Given the description of an element on the screen output the (x, y) to click on. 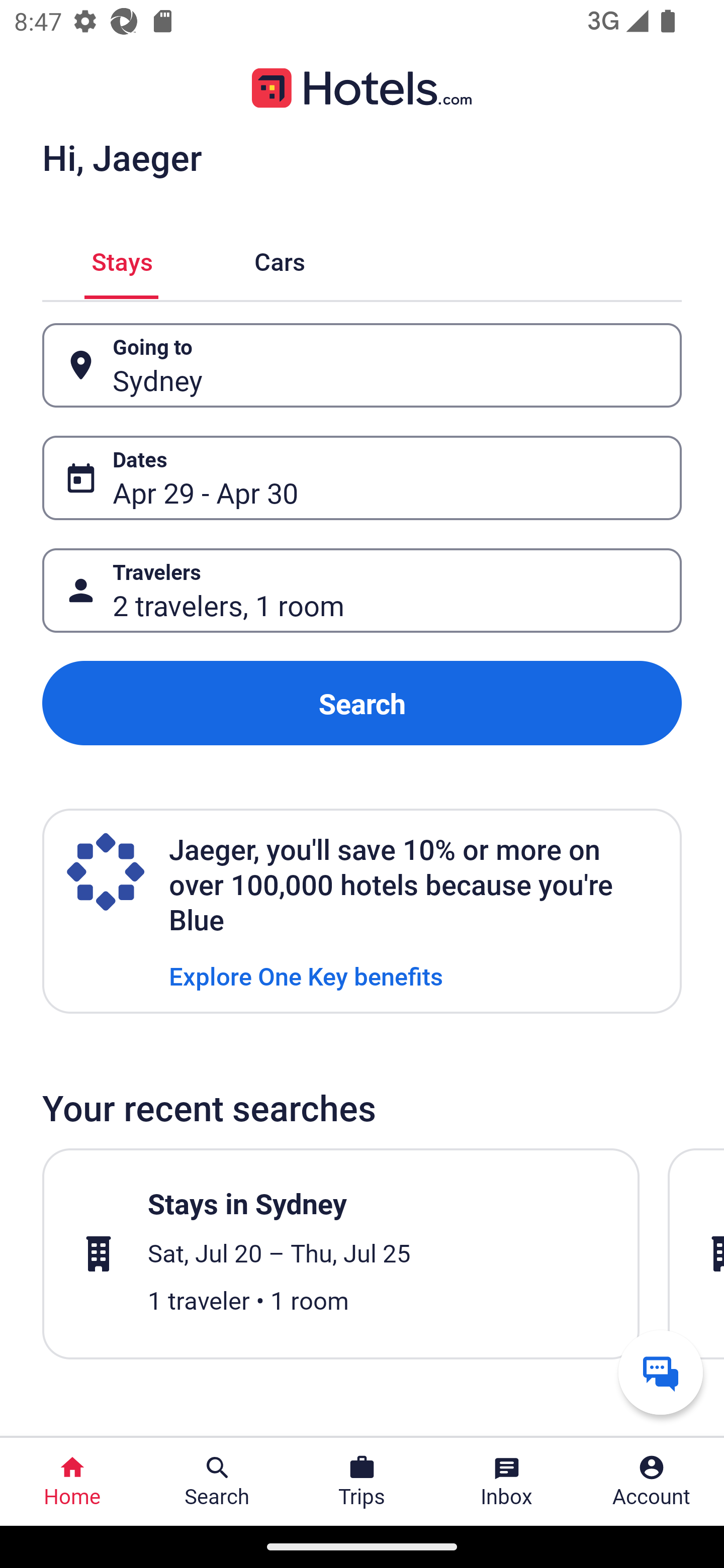
Hi, Jaeger (121, 156)
Cars (279, 259)
Going to Button Sydney (361, 365)
Dates Button Apr 29 - Apr 30 (361, 477)
Travelers Button 2 travelers, 1 room (361, 590)
Search (361, 702)
Get help from a virtual agent (660, 1371)
Search Search Button (216, 1481)
Trips Trips Button (361, 1481)
Inbox Inbox Button (506, 1481)
Account Profile. Button (651, 1481)
